Given the description of an element on the screen output the (x, y) to click on. 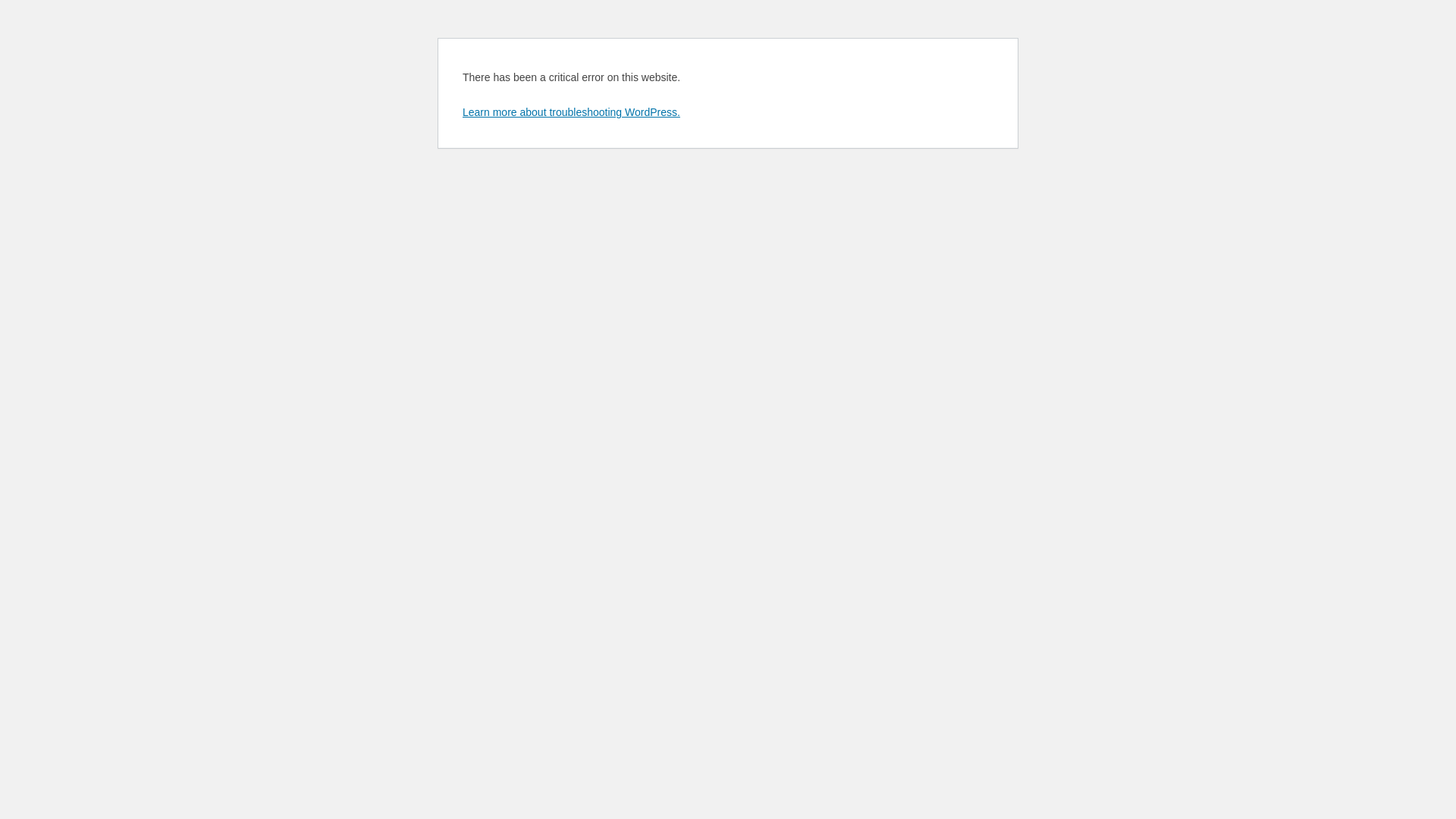
Learn more about troubleshooting WordPress. Element type: text (571, 112)
